Given the description of an element on the screen output the (x, y) to click on. 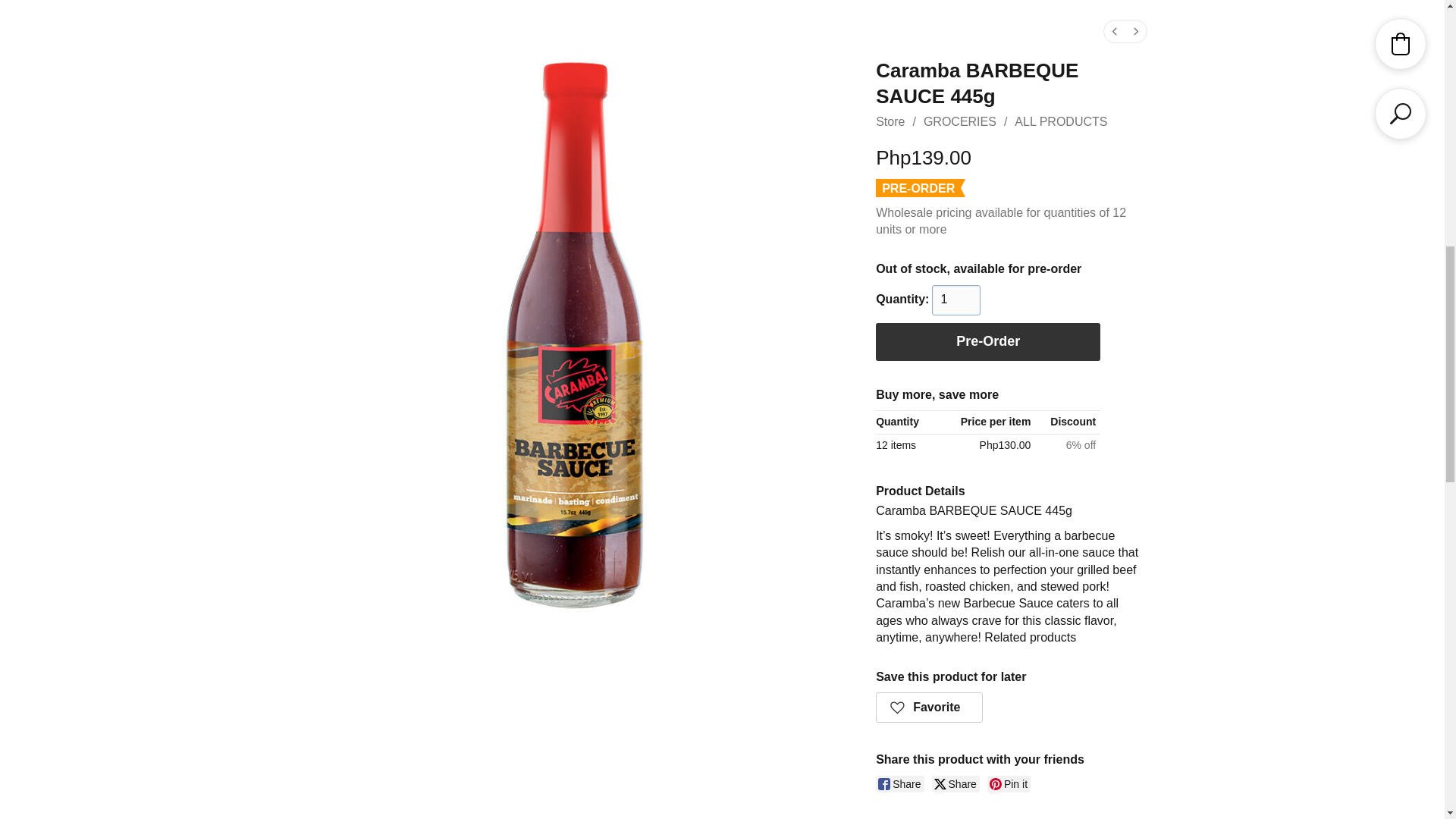
GROCERIES (959, 121)
ALL PRODUCTS (1060, 121)
Store (890, 121)
Pre-Order (988, 341)
